Given the description of an element on the screen output the (x, y) to click on. 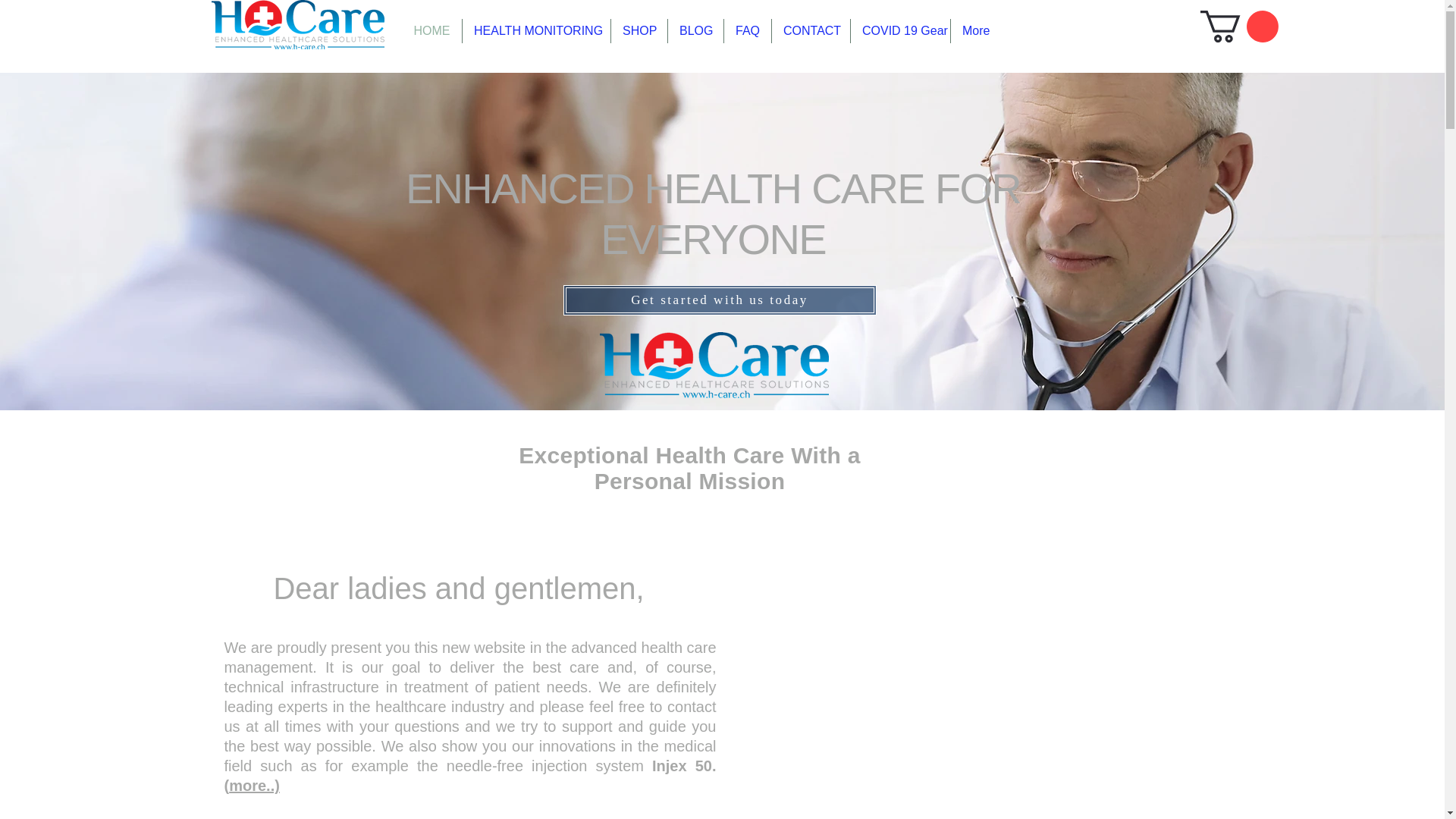
SHOP (638, 30)
FAQ (747, 30)
BLOG (695, 30)
HEALTH MONITORING (536, 30)
CONTACT (810, 30)
COVID 19 Gear (900, 30)
HOME (431, 30)
Get started with us today (719, 300)
